Given the description of an element on the screen output the (x, y) to click on. 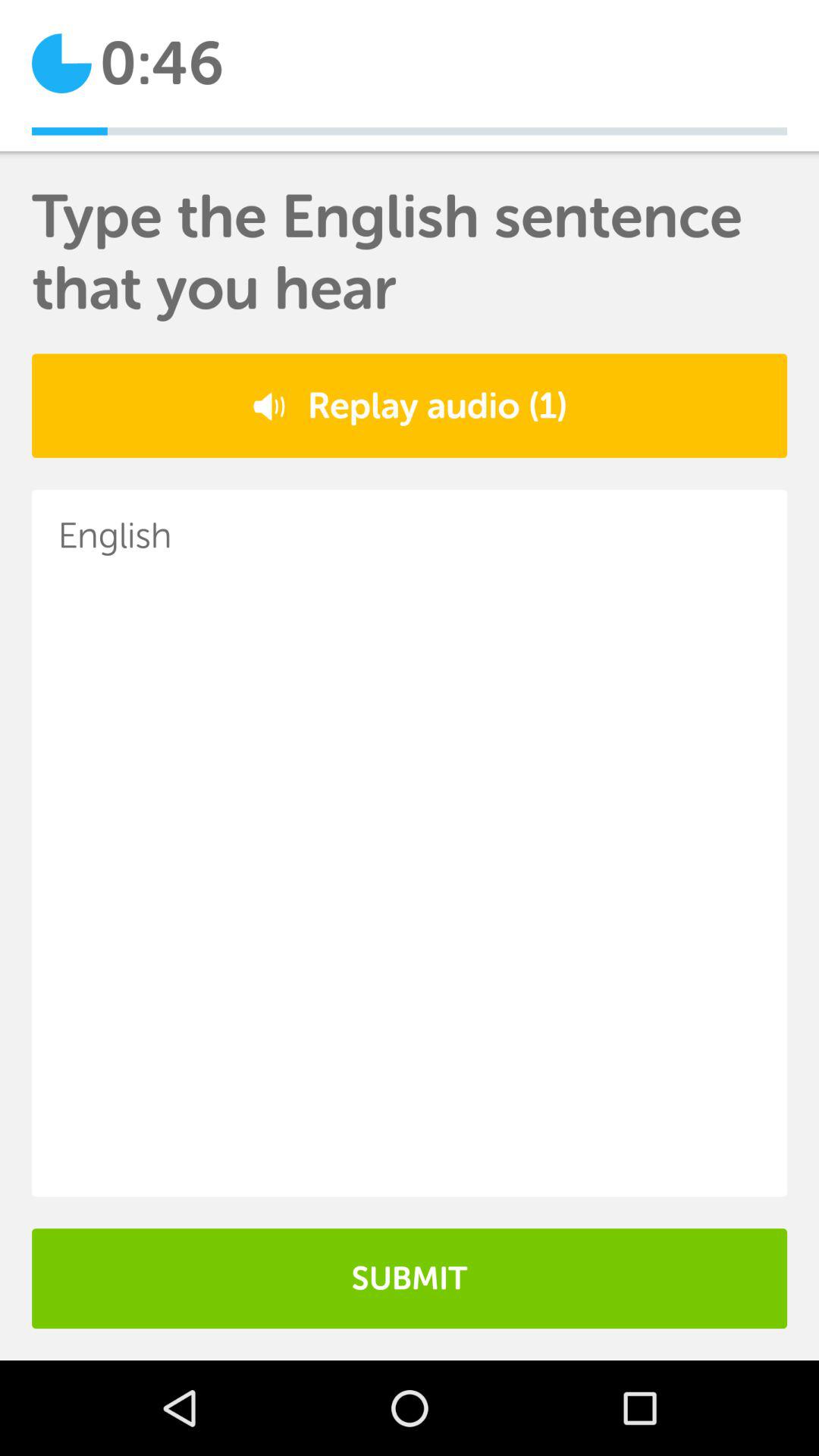
launch submit icon (409, 1278)
